Given the description of an element on the screen output the (x, y) to click on. 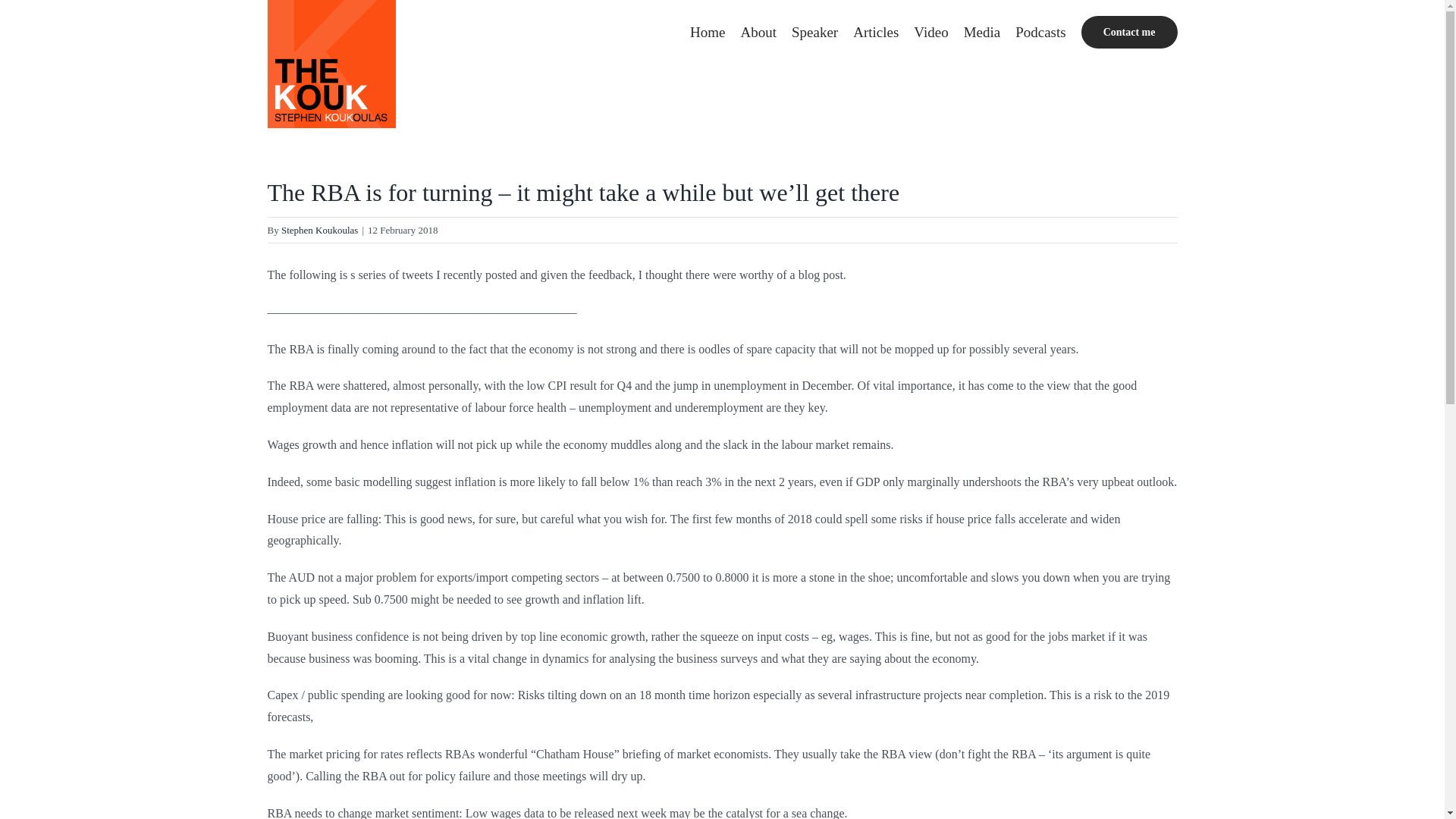
Contact me (1129, 31)
Posts by Stephen Koukoulas (319, 229)
Stephen Koukoulas (319, 229)
